Given the description of an element on the screen output the (x, y) to click on. 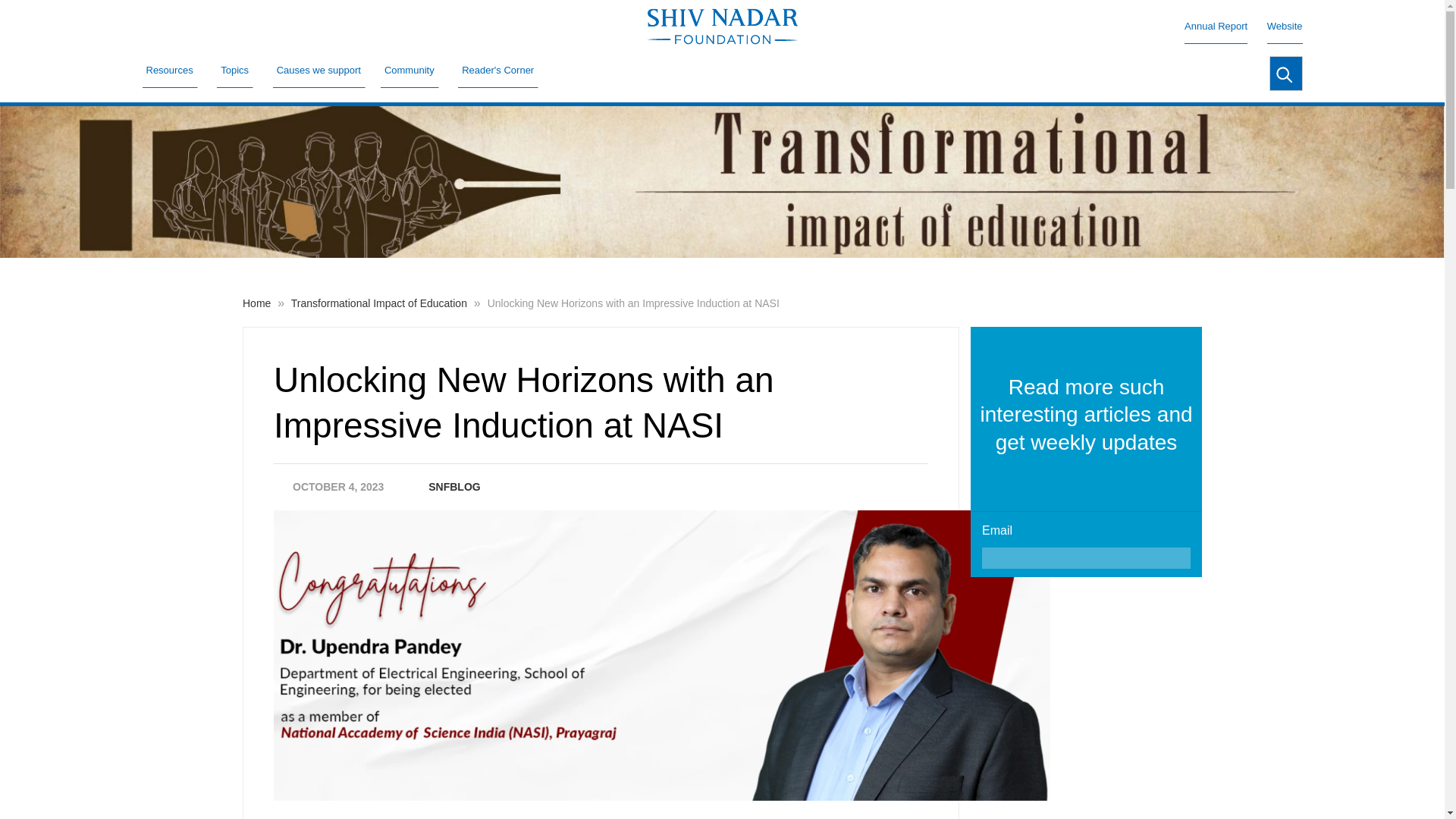
Search (1284, 73)
Reader's Corner (498, 70)
Resources (170, 70)
Annual Report (1216, 26)
Topics (234, 70)
Causes we support (319, 70)
Website (1284, 26)
Community (409, 70)
